Given the description of an element on the screen output the (x, y) to click on. 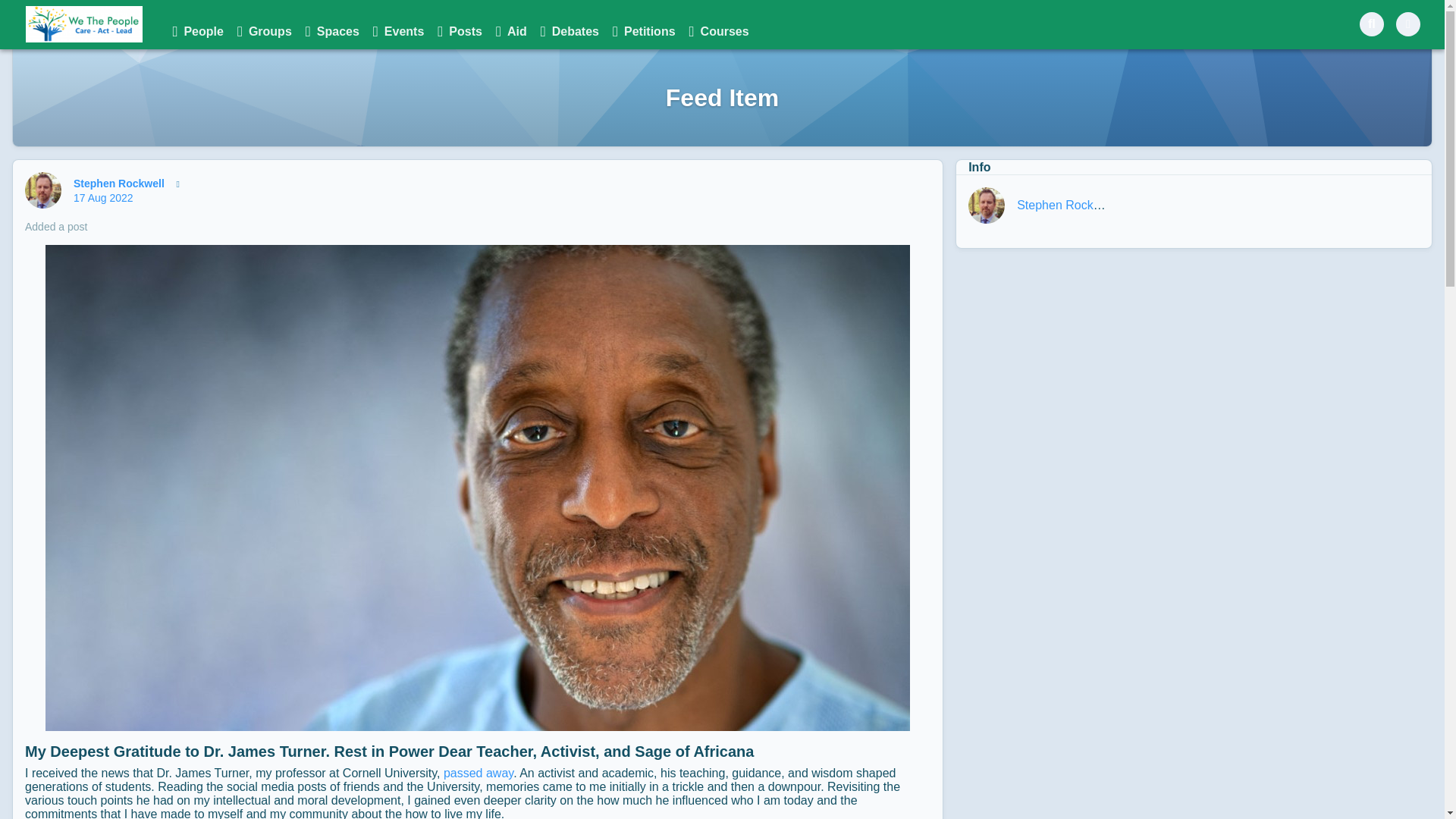
Stephen Rockwell (42, 189)
Aid (510, 31)
We The People Logo (84, 23)
Posts (458, 31)
People (196, 31)
Events (397, 31)
17 Aug 2022 (103, 197)
Stephen Rockwell (1064, 205)
Spaces (332, 31)
